Given the description of an element on the screen output the (x, y) to click on. 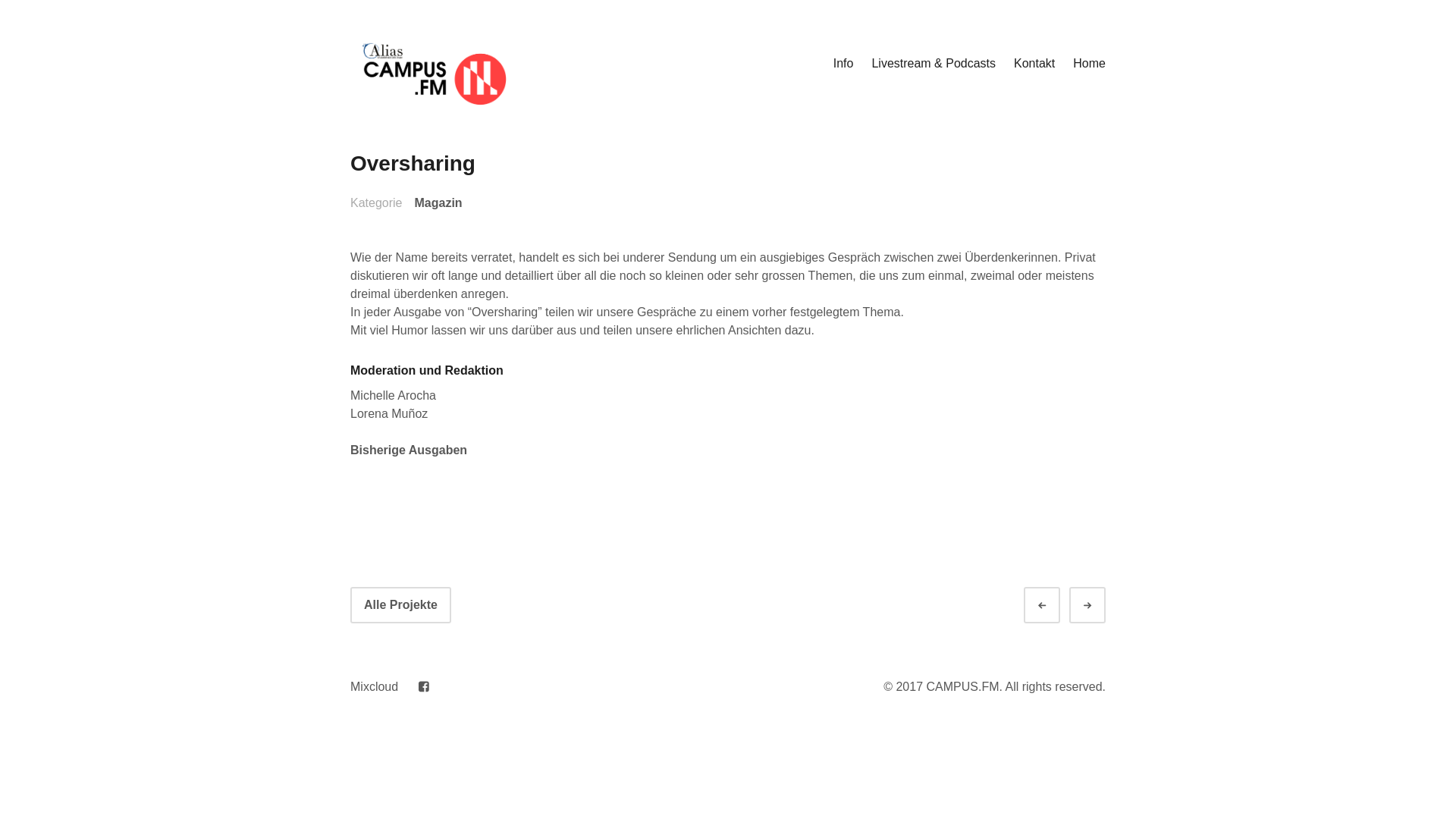
Info Element type: text (843, 63)
Livestream & Podcasts Element type: text (933, 63)
Mixcloud Element type: text (374, 686)
Home Element type: text (1088, 63)
CAMPUS.FM Element type: text (404, 117)
Magazin Element type: text (437, 202)
Alle Projekte Element type: text (400, 604)
Kontakt Element type: text (1033, 63)
